Given the description of an element on the screen output the (x, y) to click on. 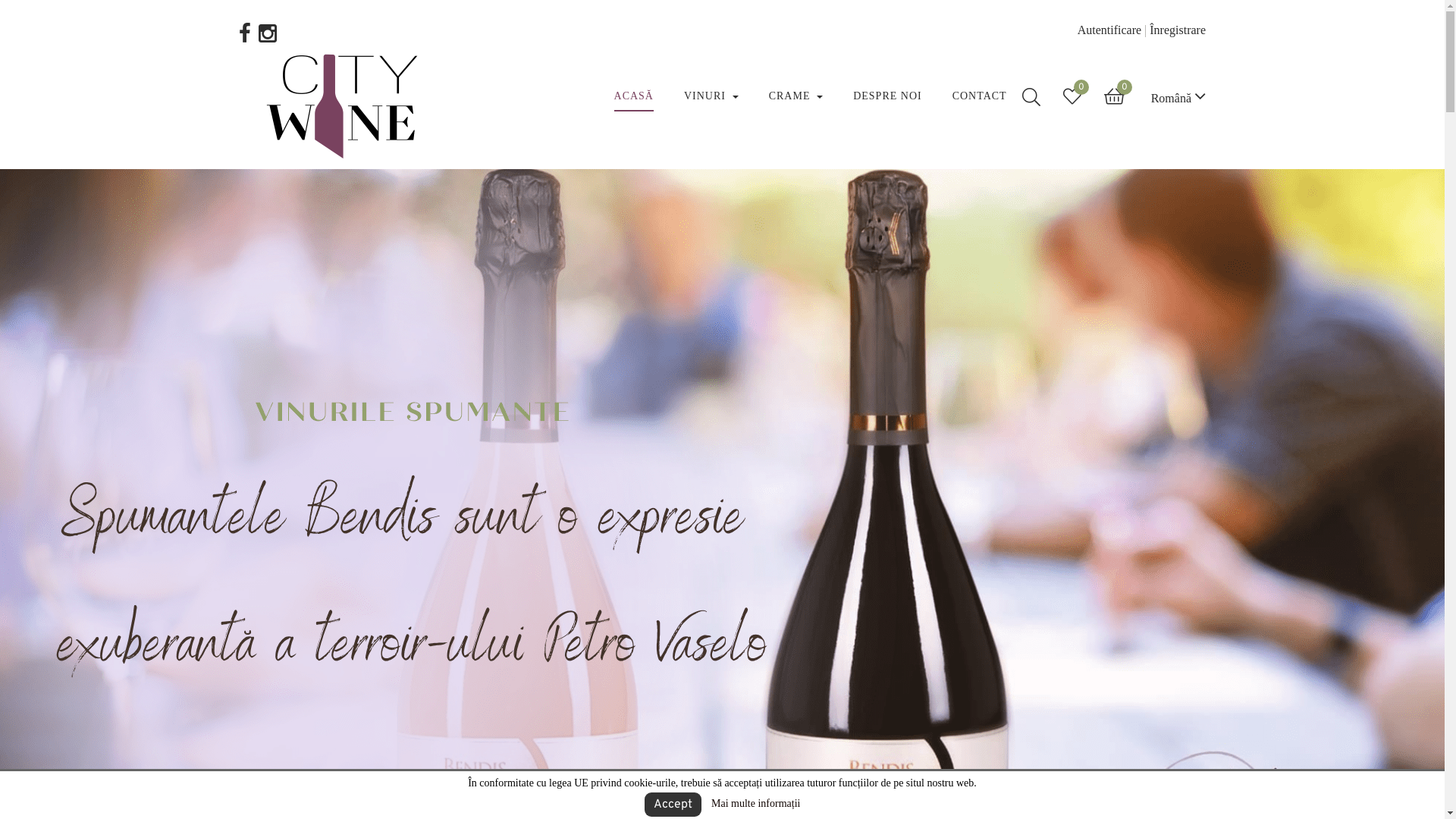
VINURI Element type: text (710, 96)
Chercher Element type: hover (1031, 96)
Autentificare Element type: text (1109, 30)
CONTACT Element type: text (979, 96)
Accept Element type: text (672, 804)
DESPRE NOI Element type: text (887, 96)
CRAME Element type: text (795, 96)
0 Element type: text (1072, 96)
